Given the description of an element on the screen output the (x, y) to click on. 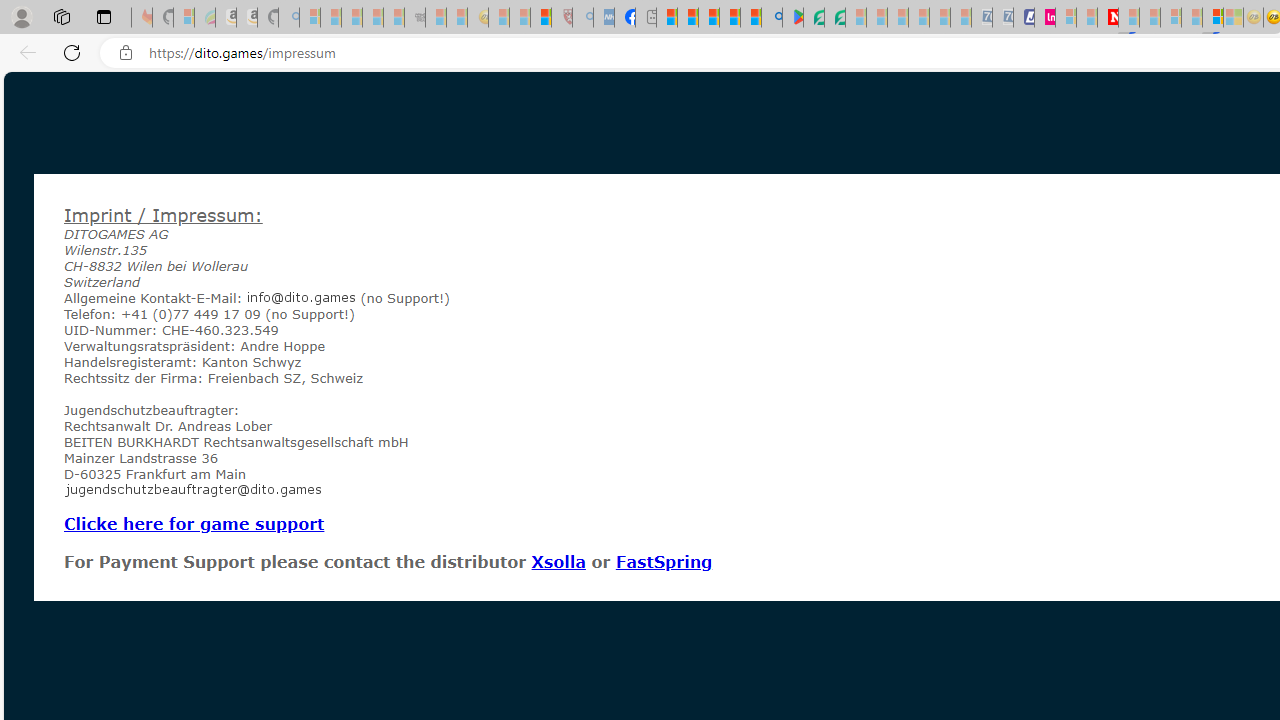
Bluey: Let's Play! - Apps on Google Play (792, 17)
